Given the description of an element on the screen output the (x, y) to click on. 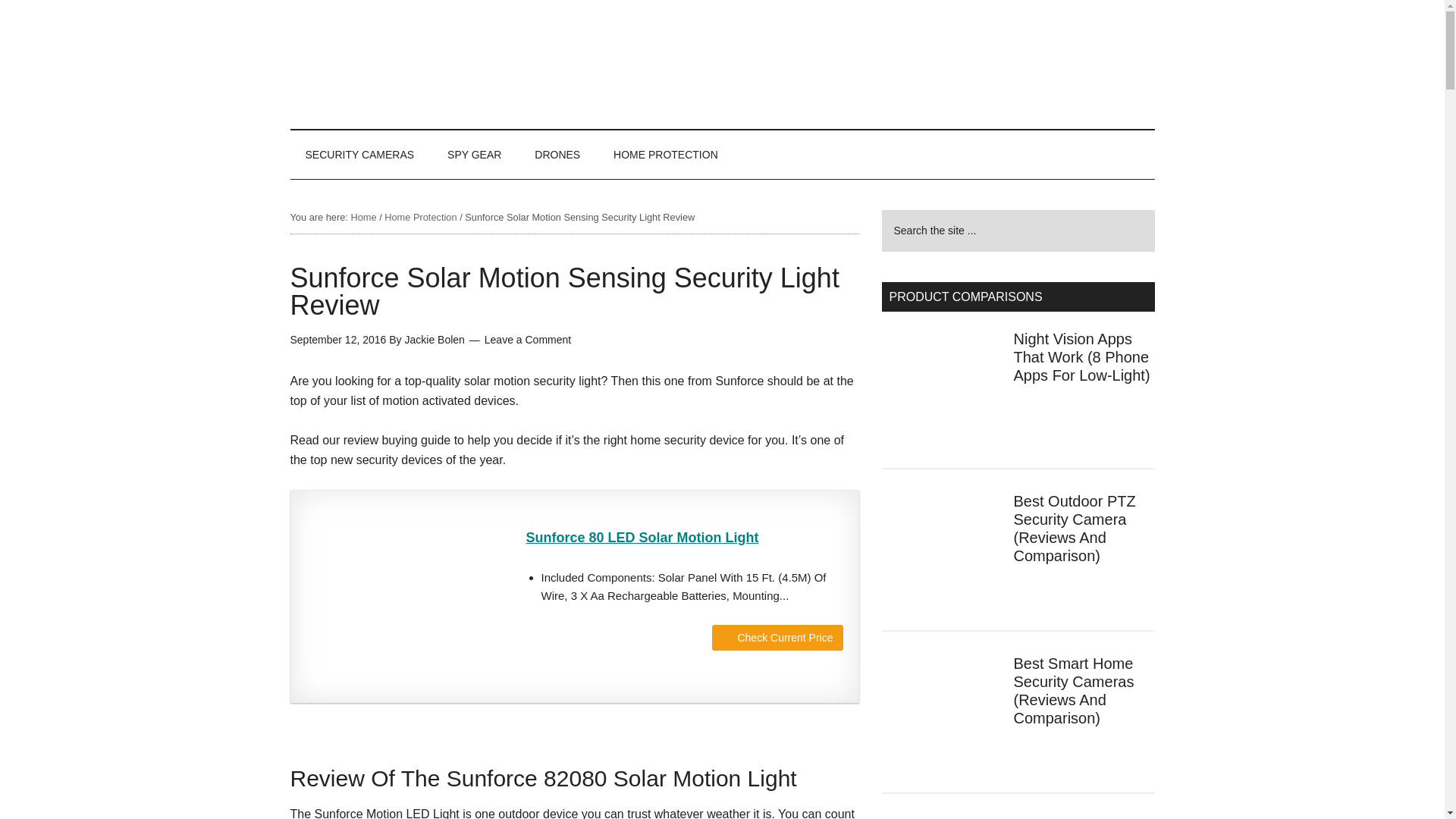
HOME PROTECTION (665, 154)
Jackie Bolen (434, 339)
Check Current Price (777, 637)
Home Protection (420, 216)
Sunforce 80 LED Solar Motion Light (684, 527)
Spy Cameras Reviewed (721, 64)
SECURITY CAMERAS (359, 154)
Leave a Comment (527, 339)
Check Current Price (777, 637)
Sunforce 80 LED Solar Motion Light (684, 527)
Home (362, 216)
SPY GEAR (474, 154)
